Given the description of an element on the screen output the (x, y) to click on. 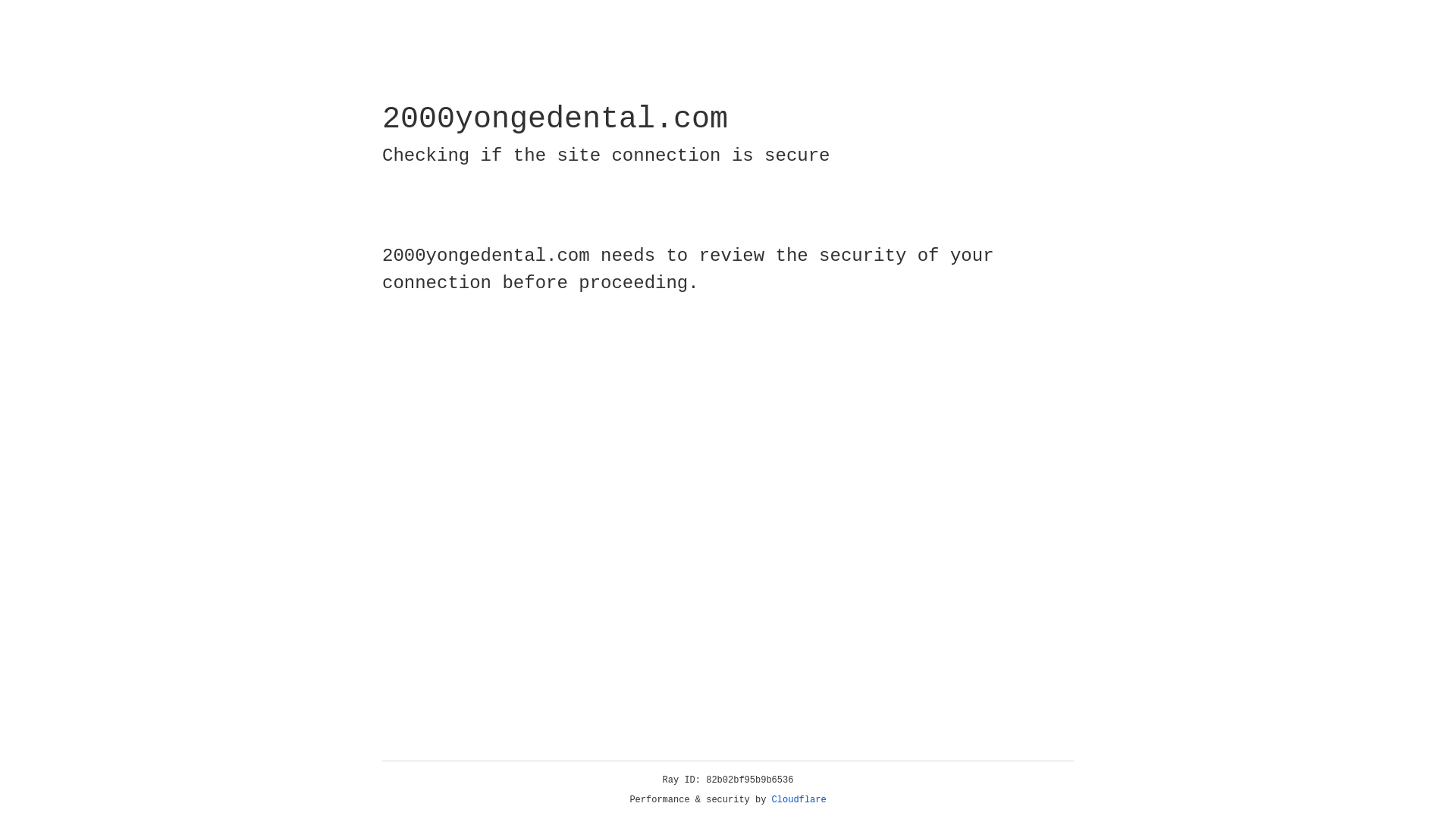
Cloudflare Element type: text (798, 799)
